Given the description of an element on the screen output the (x, y) to click on. 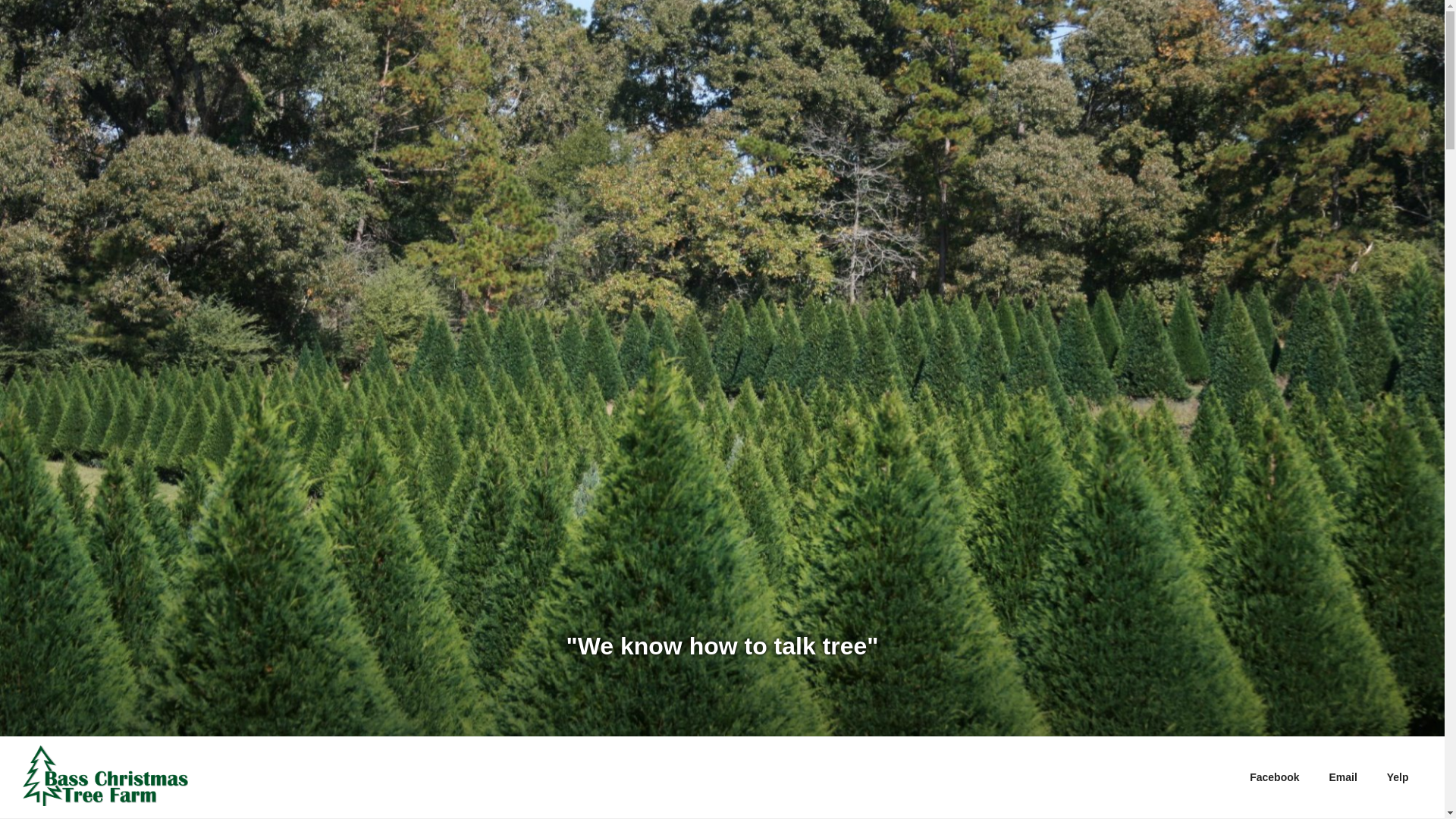
Email (1343, 777)
Facebook (1274, 777)
Yelp (1397, 777)
